Given the description of an element on the screen output the (x, y) to click on. 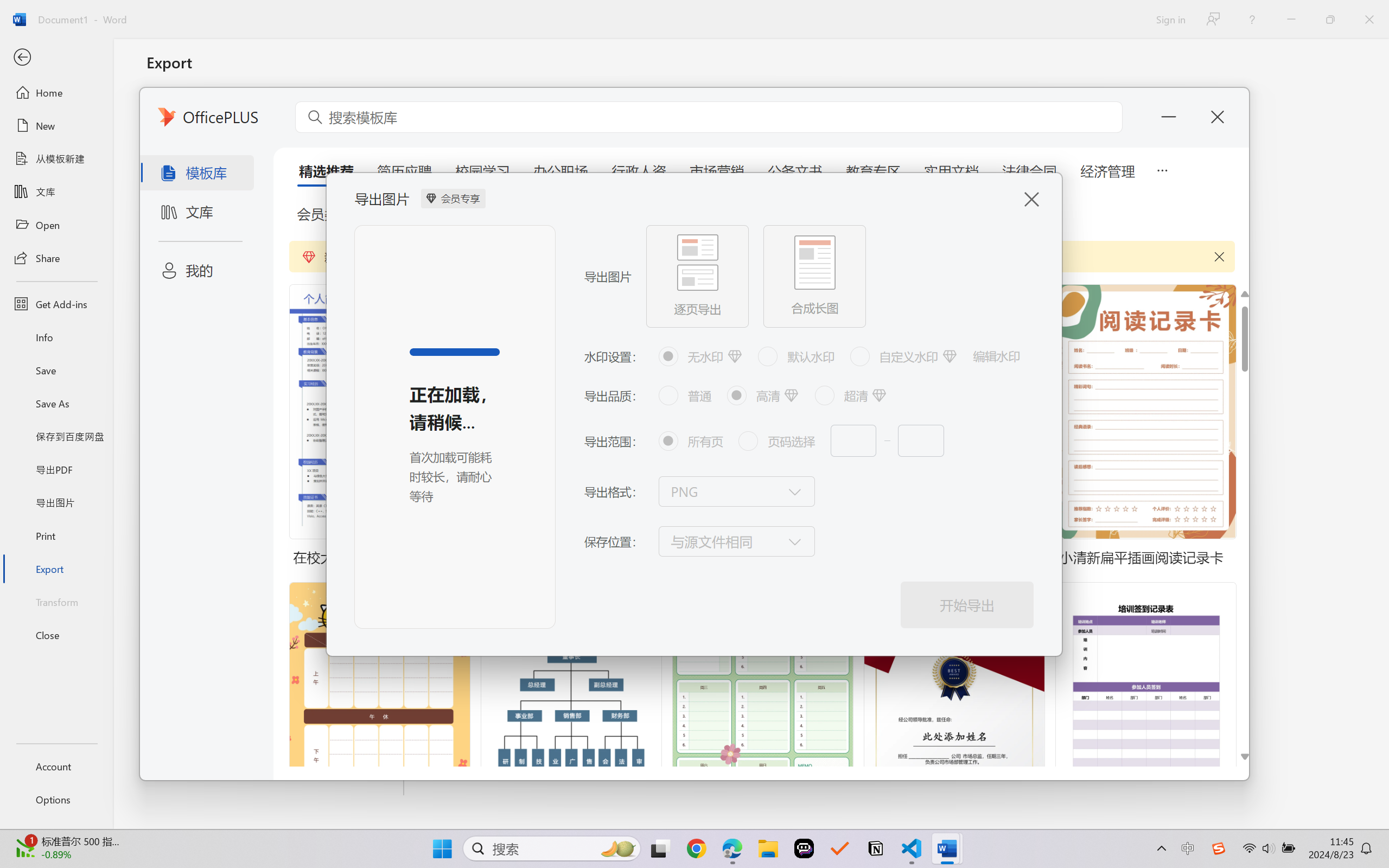
Transparency Center (91, 71)
New Tab (1231, 12)
Tools & programs (472, 71)
Go to the Reporting and appeals page (615, 533)
Who is my administrator? - Google Account Help (351, 12)
Go to the Accountability page (912, 533)
Our approach (273, 71)
